Given the description of an element on the screen output the (x, y) to click on. 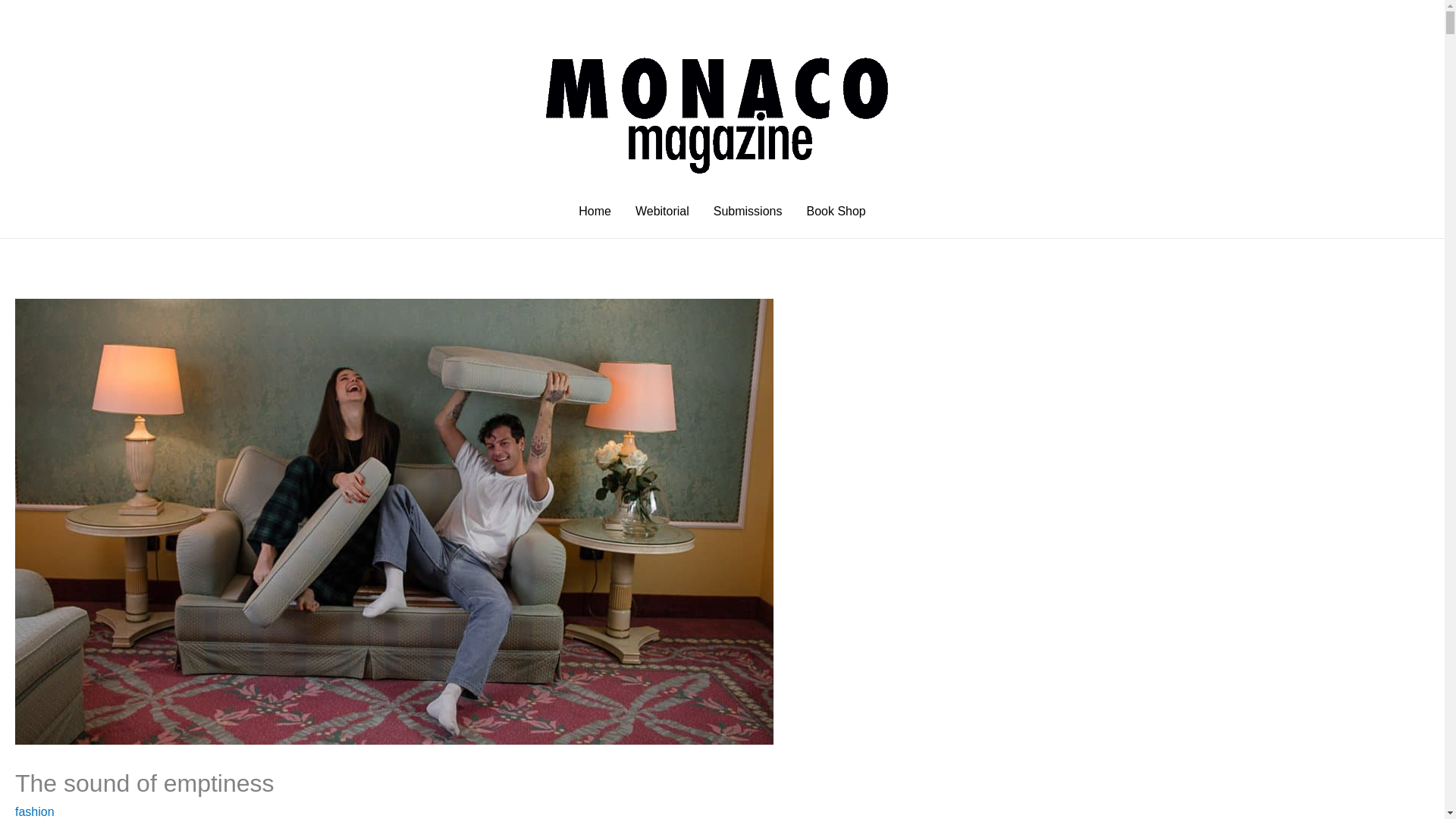
fashion (34, 811)
Book Shop (835, 211)
Home (594, 211)
Submissions (747, 211)
Webitorial (662, 211)
